Given the description of an element on the screen output the (x, y) to click on. 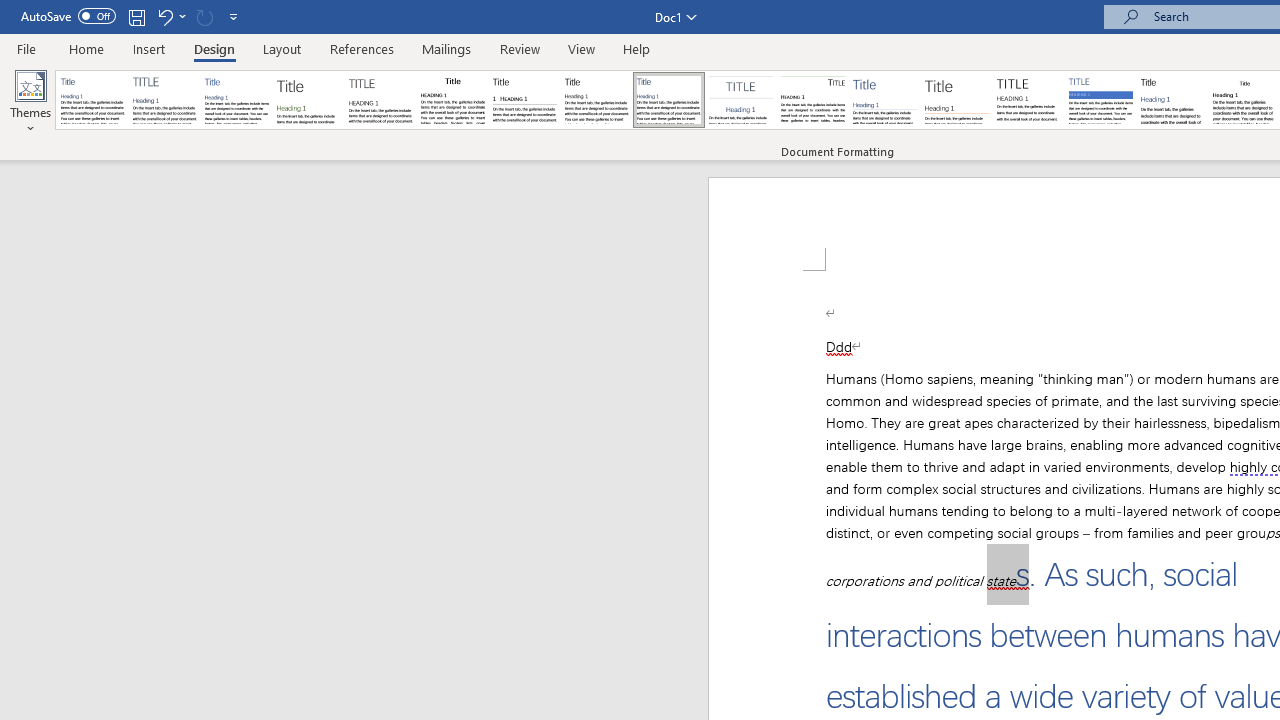
Shaded (1100, 100)
Black & White (Capitalized) (381, 100)
Black & White (Classic) (452, 100)
Centered (740, 100)
Casual (669, 100)
Basic (Stylish) (308, 100)
Themes (30, 102)
Basic (Simple) (236, 100)
